Given the description of an element on the screen output the (x, y) to click on. 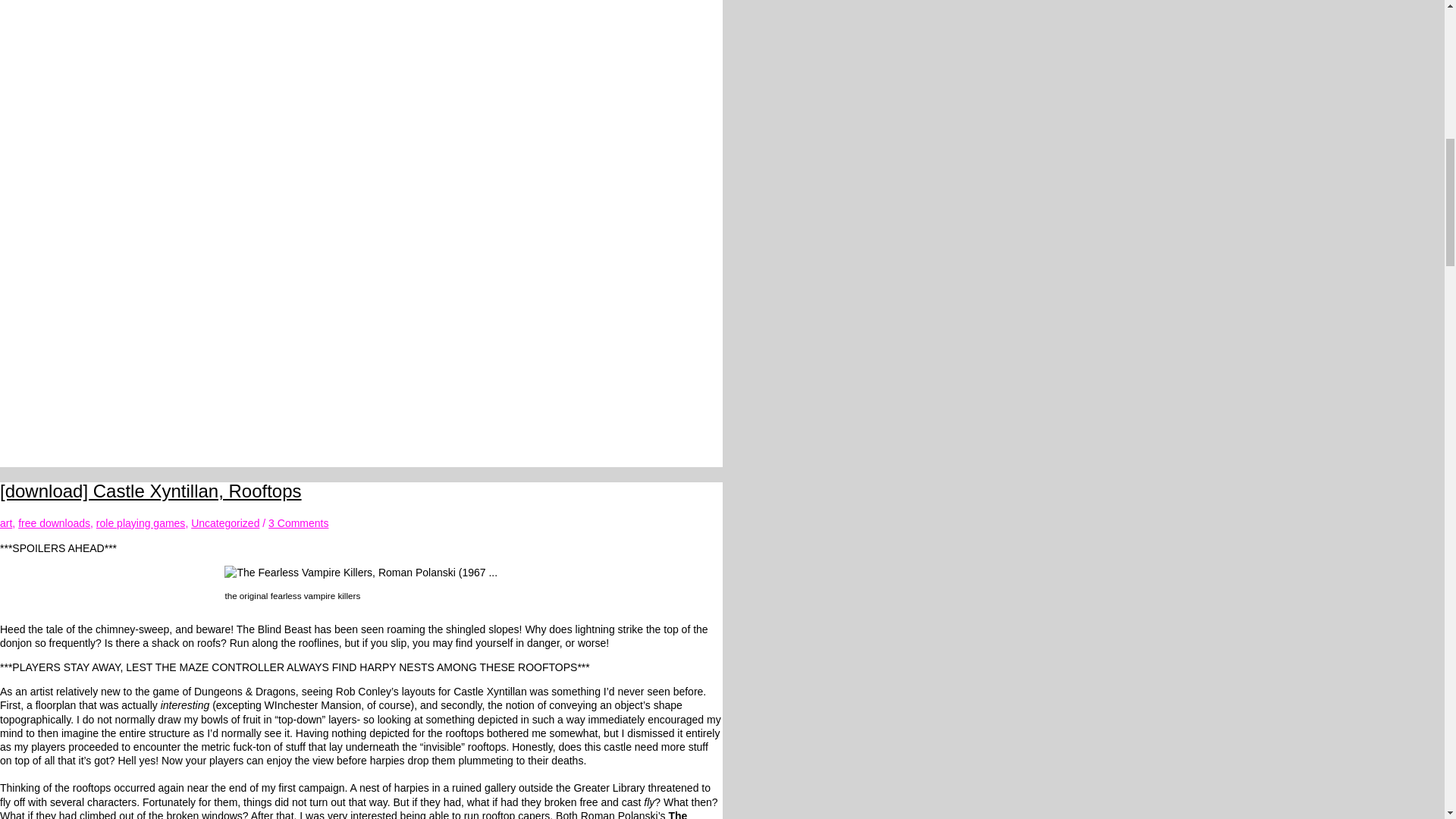
role playing games (141, 522)
3 Comments (298, 522)
art (5, 522)
Uncategorized (224, 522)
free downloads (53, 522)
